Given the description of an element on the screen output the (x, y) to click on. 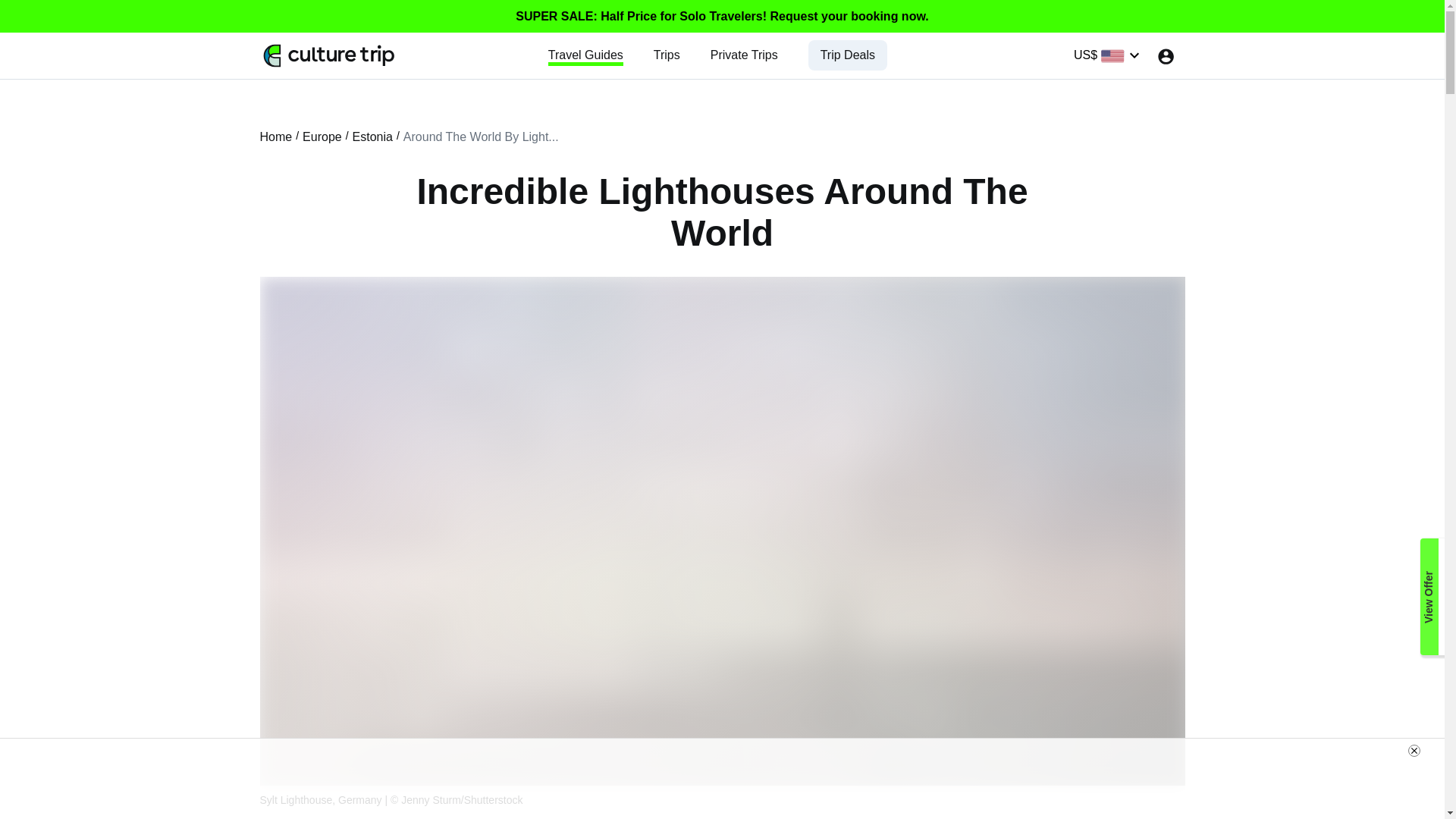
The Culture Trip (328, 54)
Trips (666, 54)
Around The World By Light... (481, 136)
Europe (322, 136)
Home (275, 136)
Private Trips (743, 54)
Travel Guides (585, 54)
Trips (666, 54)
Travel Guides (585, 54)
Private Trips (743, 54)
Estonia (372, 136)
Trip Deals (848, 54)
Trip Deals (848, 54)
